Given the description of an element on the screen output the (x, y) to click on. 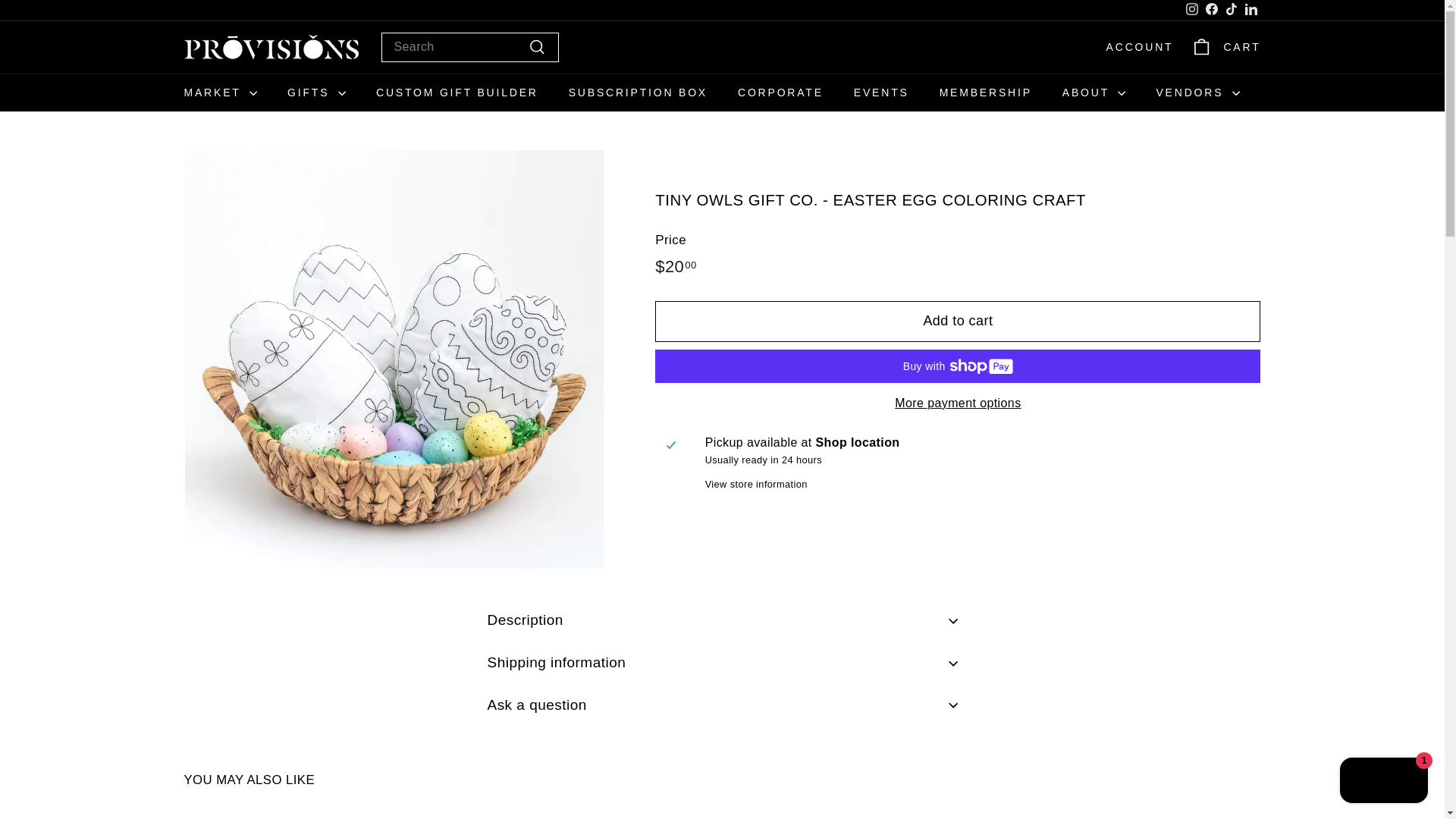
Facebook (1211, 10)
ACCOUNT (1134, 46)
TikTok (1230, 10)
CART (1225, 47)
instagram (1192, 9)
LinkedIn (1190, 10)
